Given the description of an element on the screen output the (x, y) to click on. 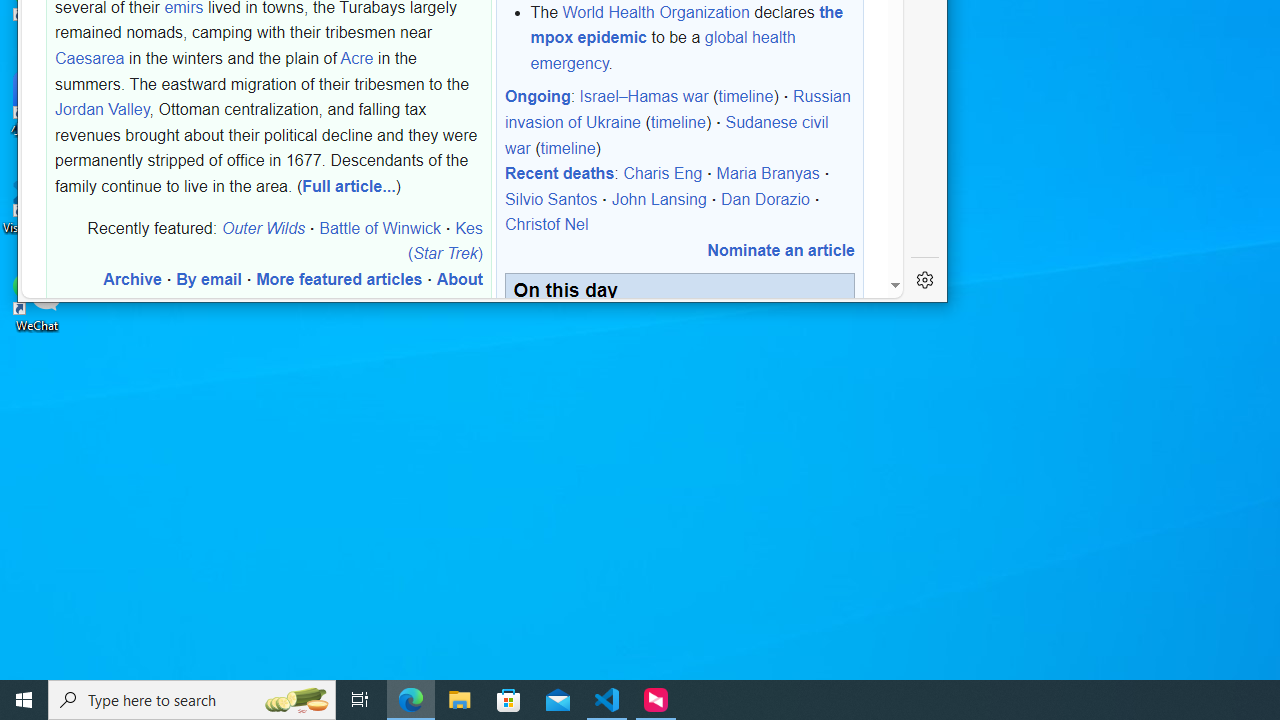
Silvio Santos (550, 199)
Nominate an article (780, 250)
global health emergency (662, 50)
File Explorer (460, 699)
Recent deaths (559, 173)
By email (208, 279)
the mpox epidemic (686, 24)
About (459, 279)
Sudanese civil war (timeline) (666, 134)
